Given the description of an element on the screen output the (x, y) to click on. 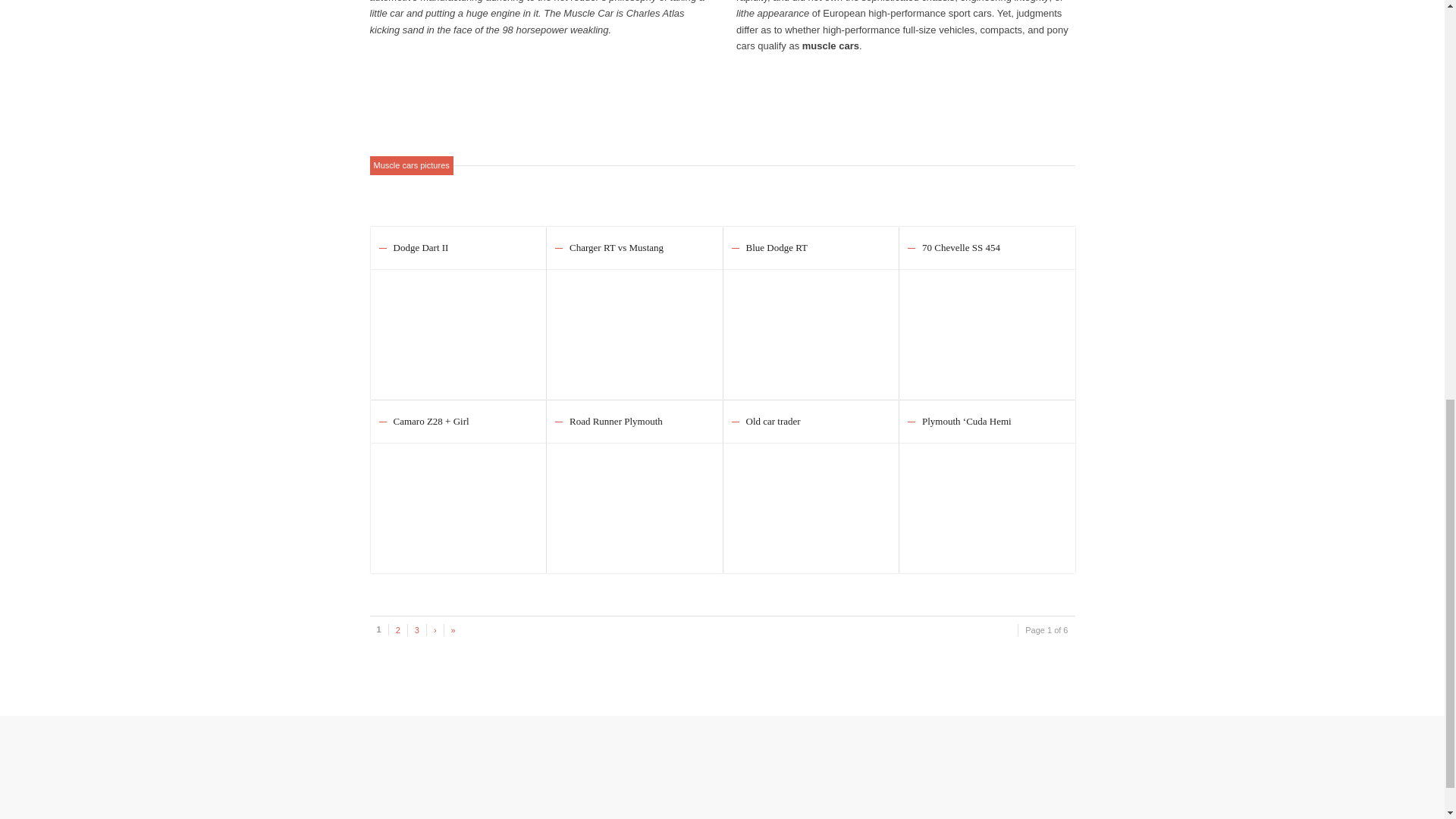
70 Chevelle SS 454 (960, 247)
Road Runner Plymouth (615, 420)
Old car trader (811, 500)
Permanent Link: Old car trader (772, 420)
Blue Dodge RT (776, 247)
Permanent Link: Dodge Dart II (420, 247)
Permanent Link: Road Runner Plymouth (615, 420)
70 Chevelle SS 454 (987, 327)
Charger RT vs Mustang (616, 247)
Dodge Dart II (420, 247)
Blue Dodge RT (811, 327)
Permanent Link: Charger RT vs Mustang (616, 247)
Plymouth  (987, 500)
Dodge Dart II (457, 327)
Charger RT vs Mustang (634, 327)
